Given the description of an element on the screen output the (x, y) to click on. 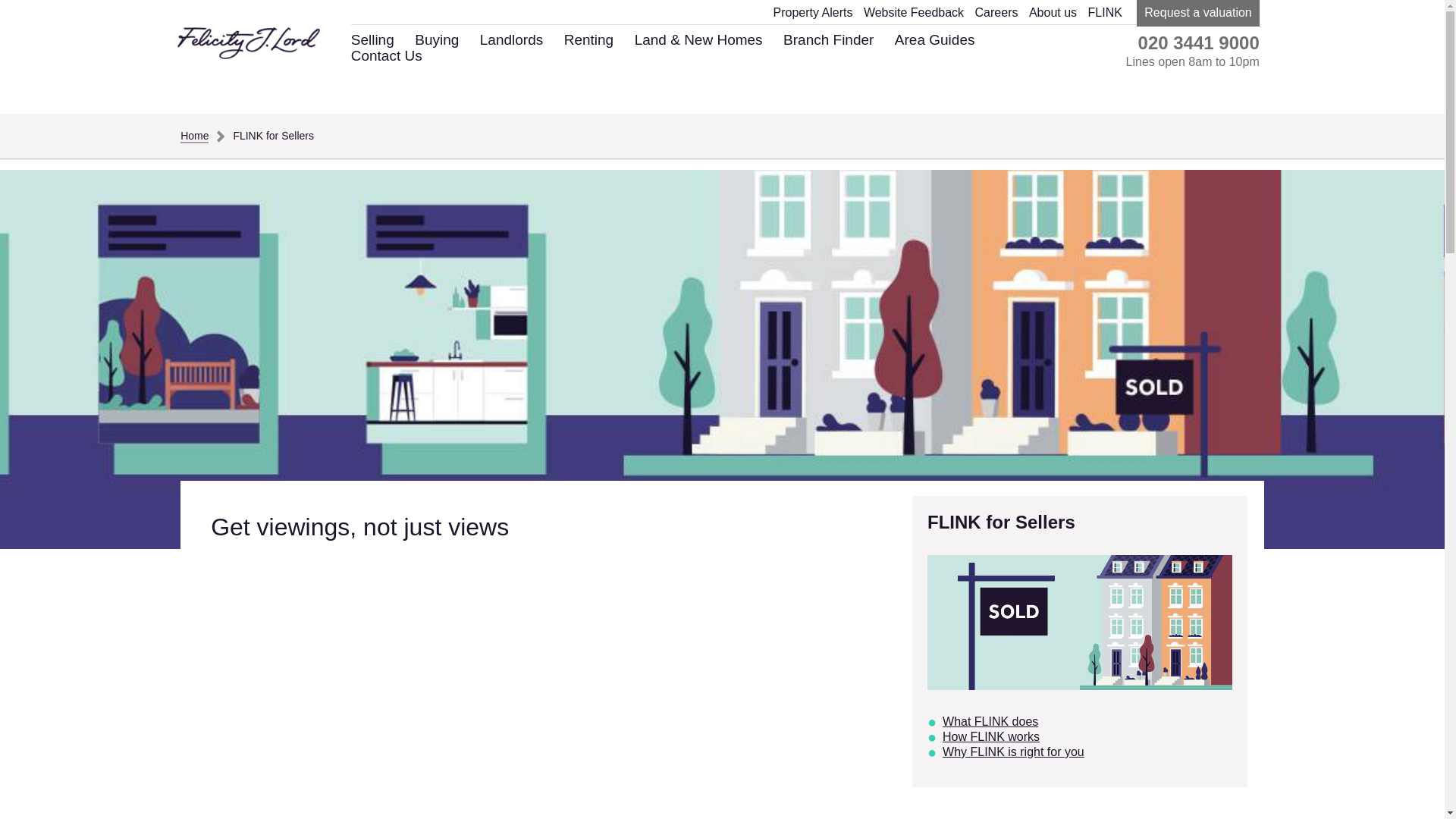
Buying (436, 39)
Landlords (511, 39)
What FLINK does (990, 721)
Selling (372, 39)
Careers (996, 12)
Area Guides (935, 39)
Home (195, 135)
Why FLINK is right for you (1013, 751)
Website Feedback (913, 12)
How FLINK works (990, 736)
